Given the description of an element on the screen output the (x, y) to click on. 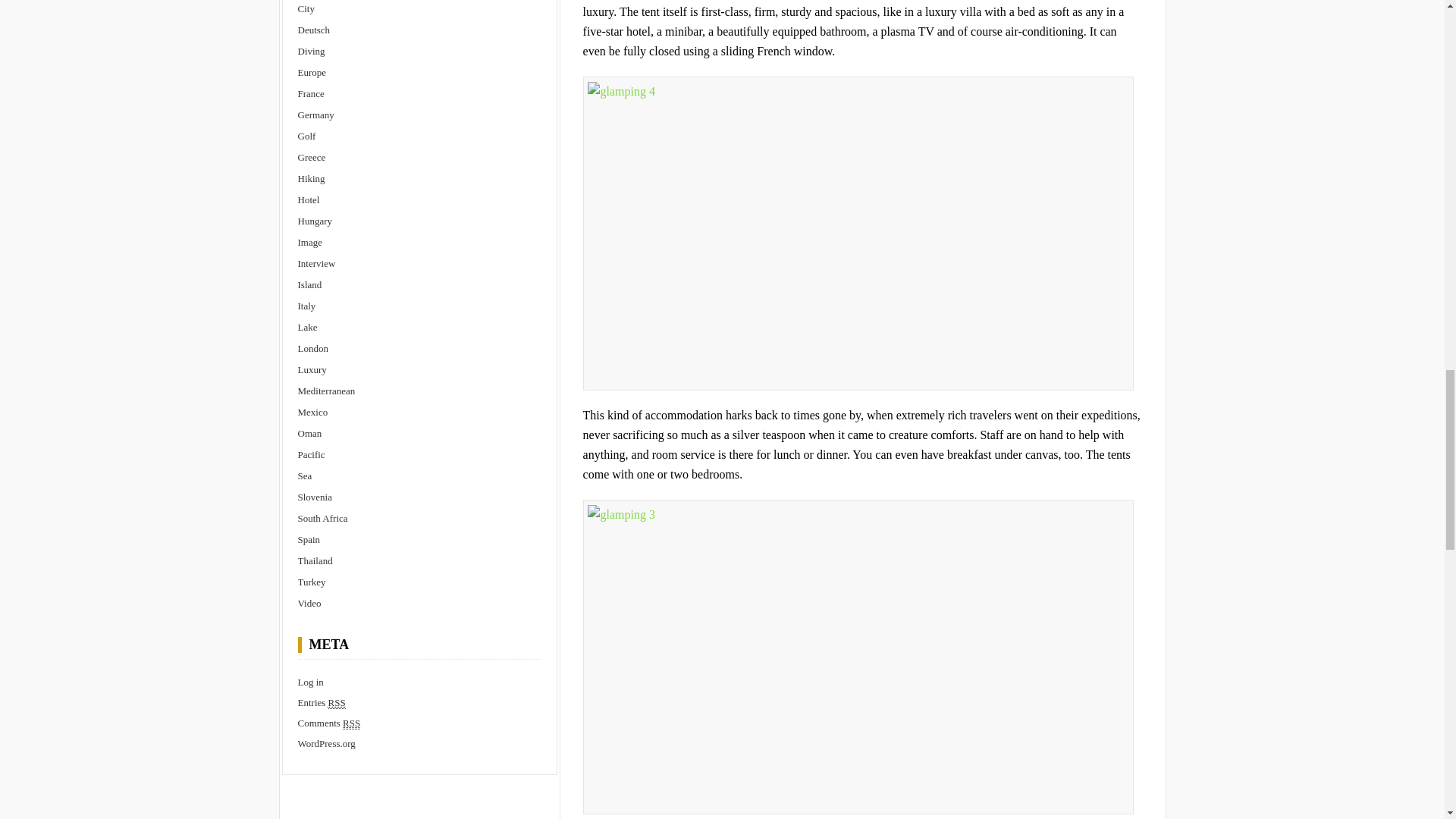
Really Simple Syndication (350, 723)
Really Simple Syndication (337, 702)
